Given the description of an element on the screen output the (x, y) to click on. 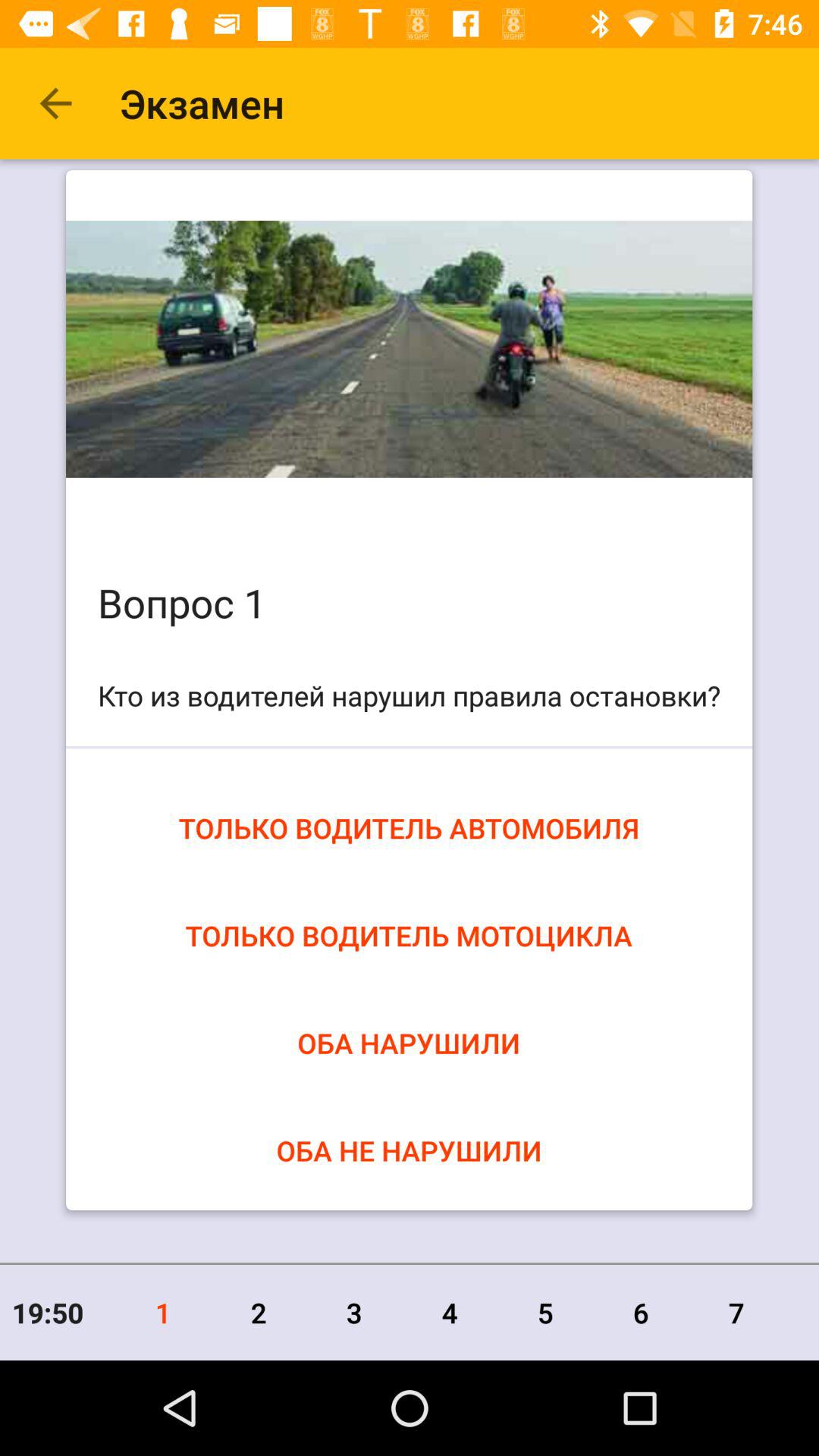
choose the item to the right of the 5 icon (640, 1312)
